Given the description of an element on the screen output the (x, y) to click on. 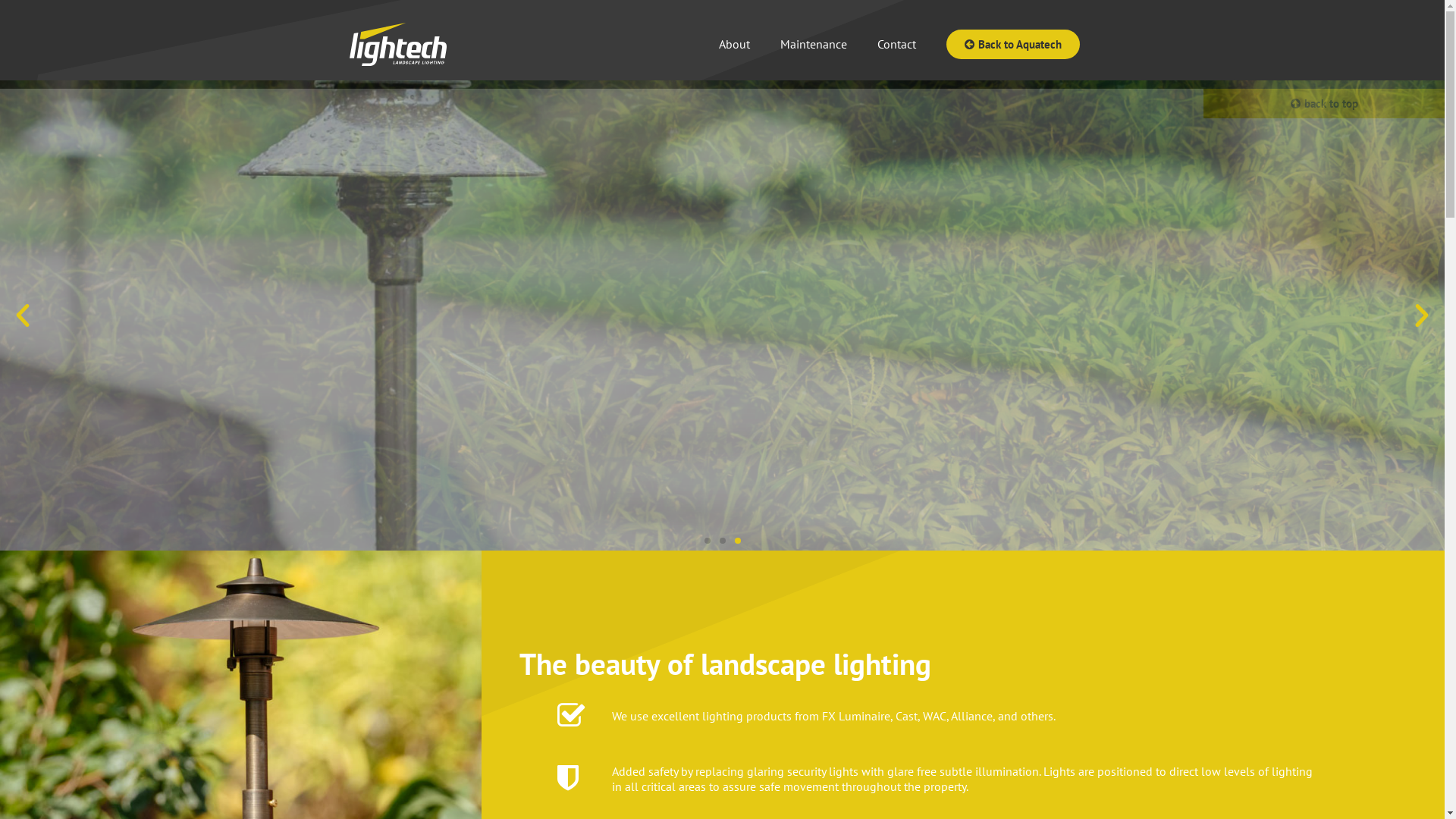
Contact Element type: text (895, 43)
About Element type: text (734, 43)
Back to Aquatech Element type: text (1012, 44)
back to top Element type: text (1324, 103)
Maintenance Element type: text (812, 43)
